Given the description of an element on the screen output the (x, y) to click on. 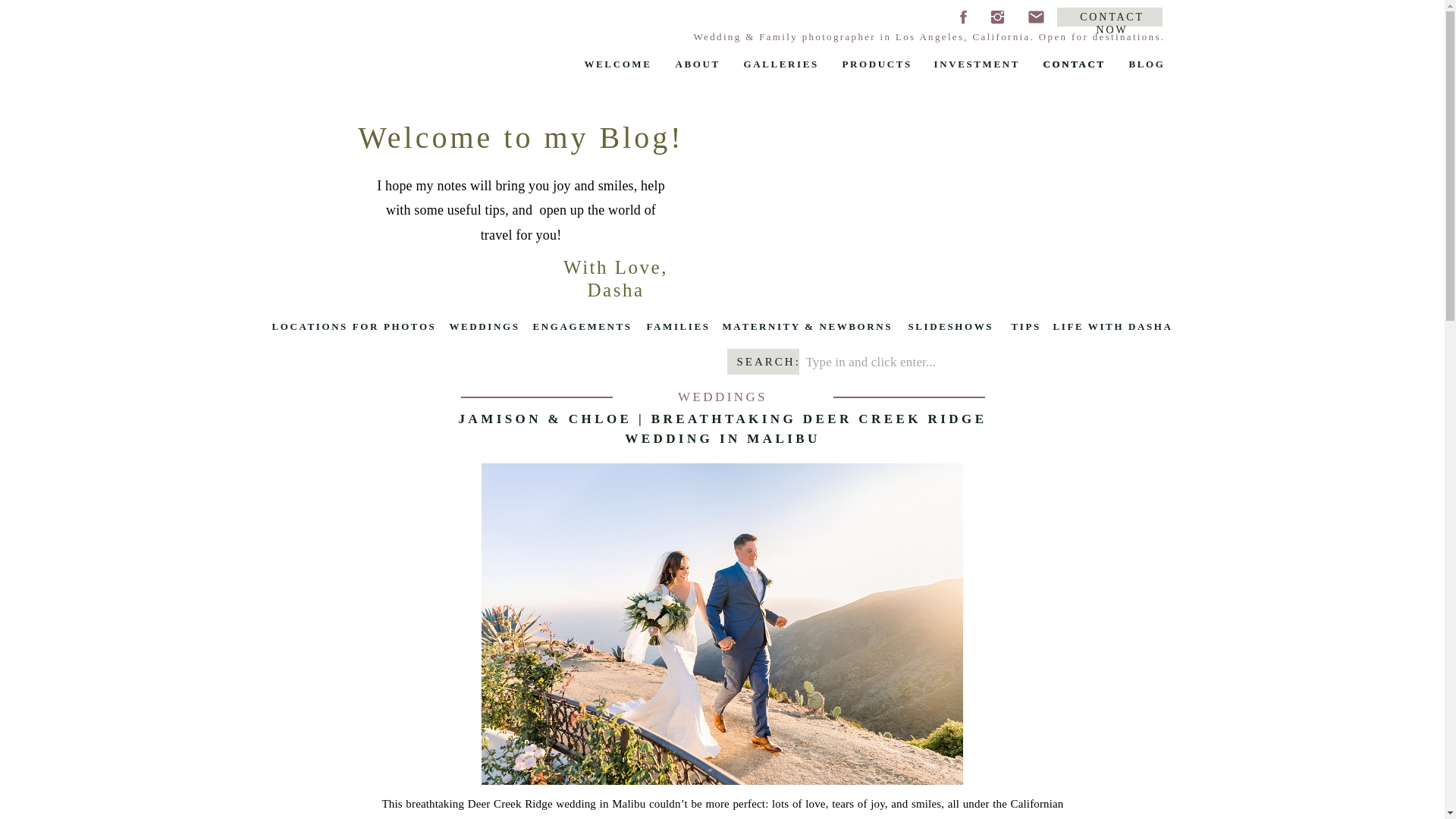
WELCOME (620, 63)
CONTACT NOW (1111, 18)
PRODUCTS (879, 63)
FAMILIES (678, 326)
WEDDINGS (722, 396)
CONTACT (1077, 63)
WEDDINGS (486, 326)
INVESTMENT (980, 63)
BLOG (1148, 63)
LIFE WITH DASHA (1116, 326)
ABOUT (700, 63)
GALLERIES (783, 63)
LOCATIONS FOR PHOTOS (356, 326)
ENGAGEMENTS (582, 326)
TIPS (1026, 326)
